Given the description of an element on the screen output the (x, y) to click on. 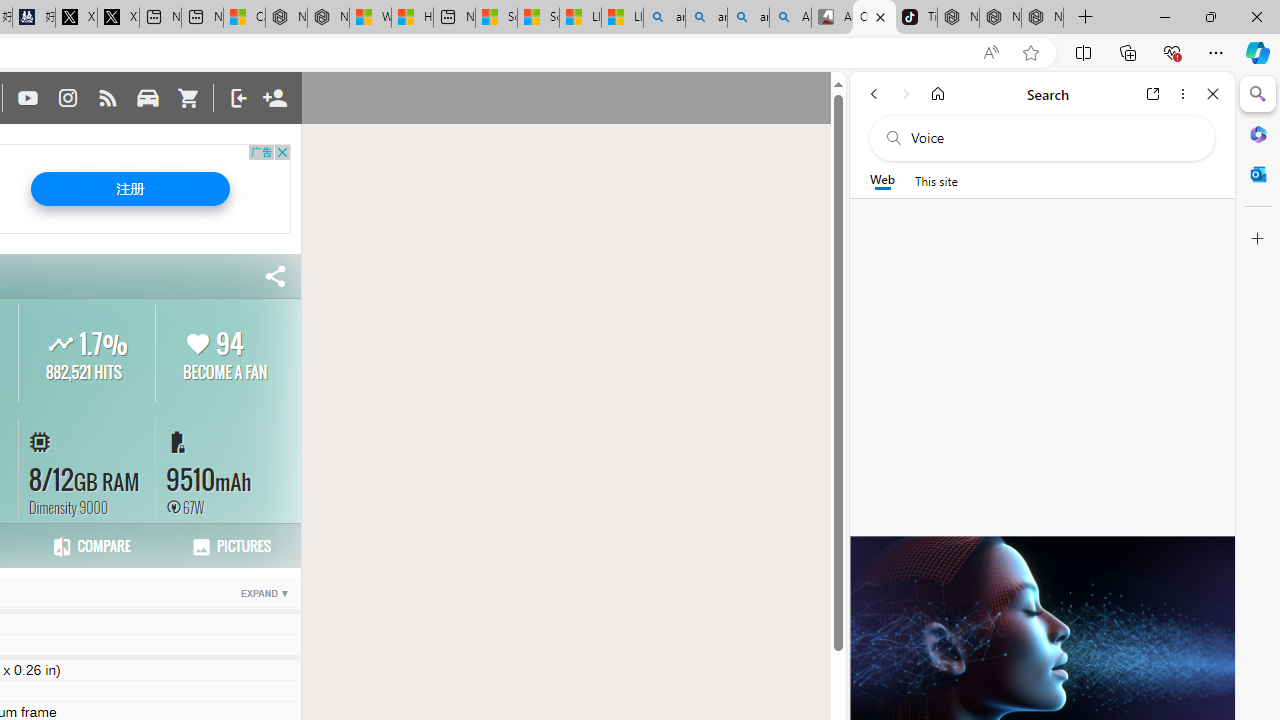
X (118, 17)
OnePlus Pad - Full tablet specifications (873, 17)
Open link in new tab (1153, 93)
Nordace - Best Sellers (958, 17)
TikTok (916, 17)
Search the web (1051, 137)
Outlook (1258, 174)
Nordace - Siena Pro 15 Essential Set (1042, 17)
